Given the description of an element on the screen output the (x, y) to click on. 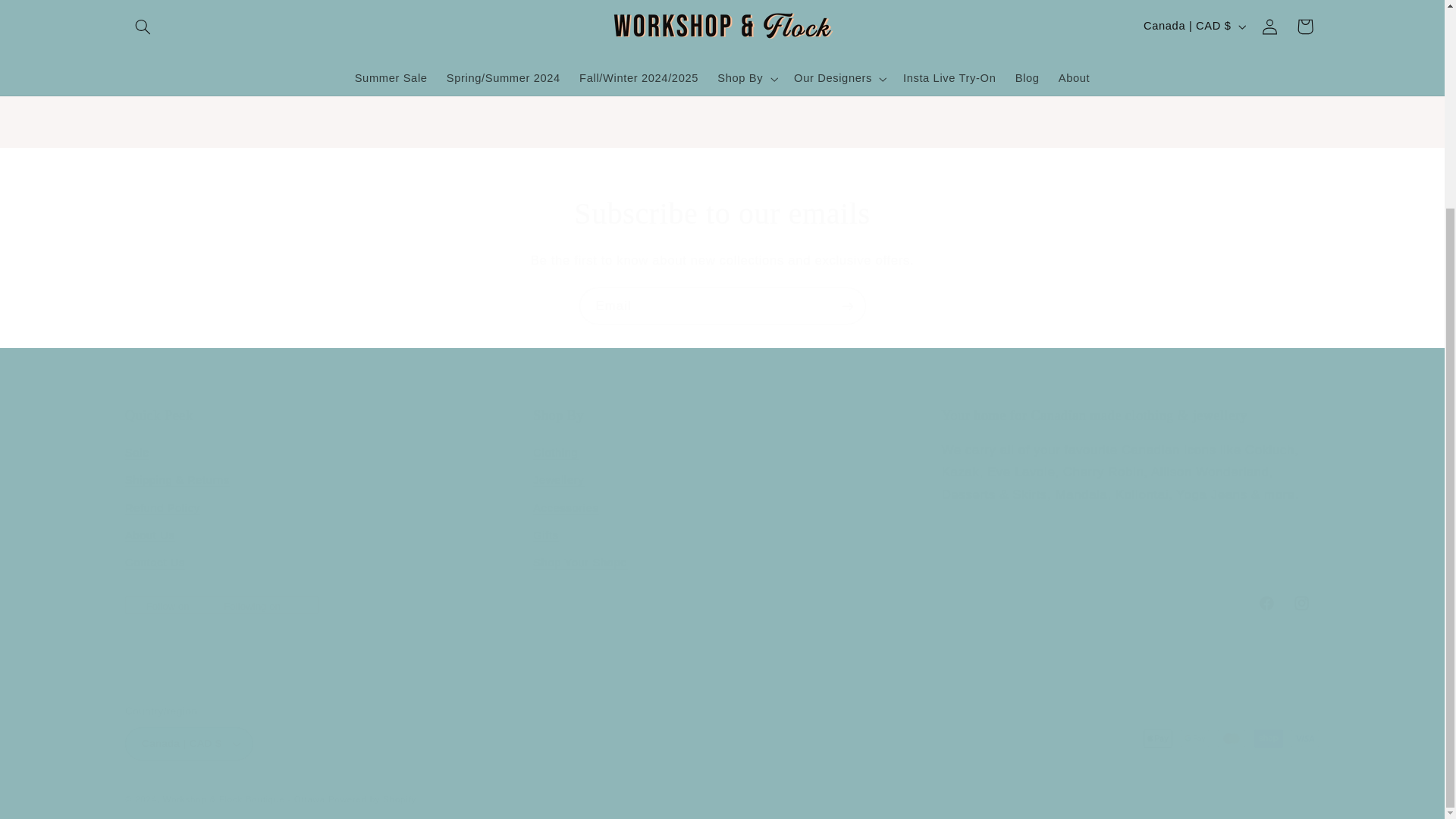
Subscribe to our emails (722, 213)
Email (722, 602)
